Given the description of an element on the screen output the (x, y) to click on. 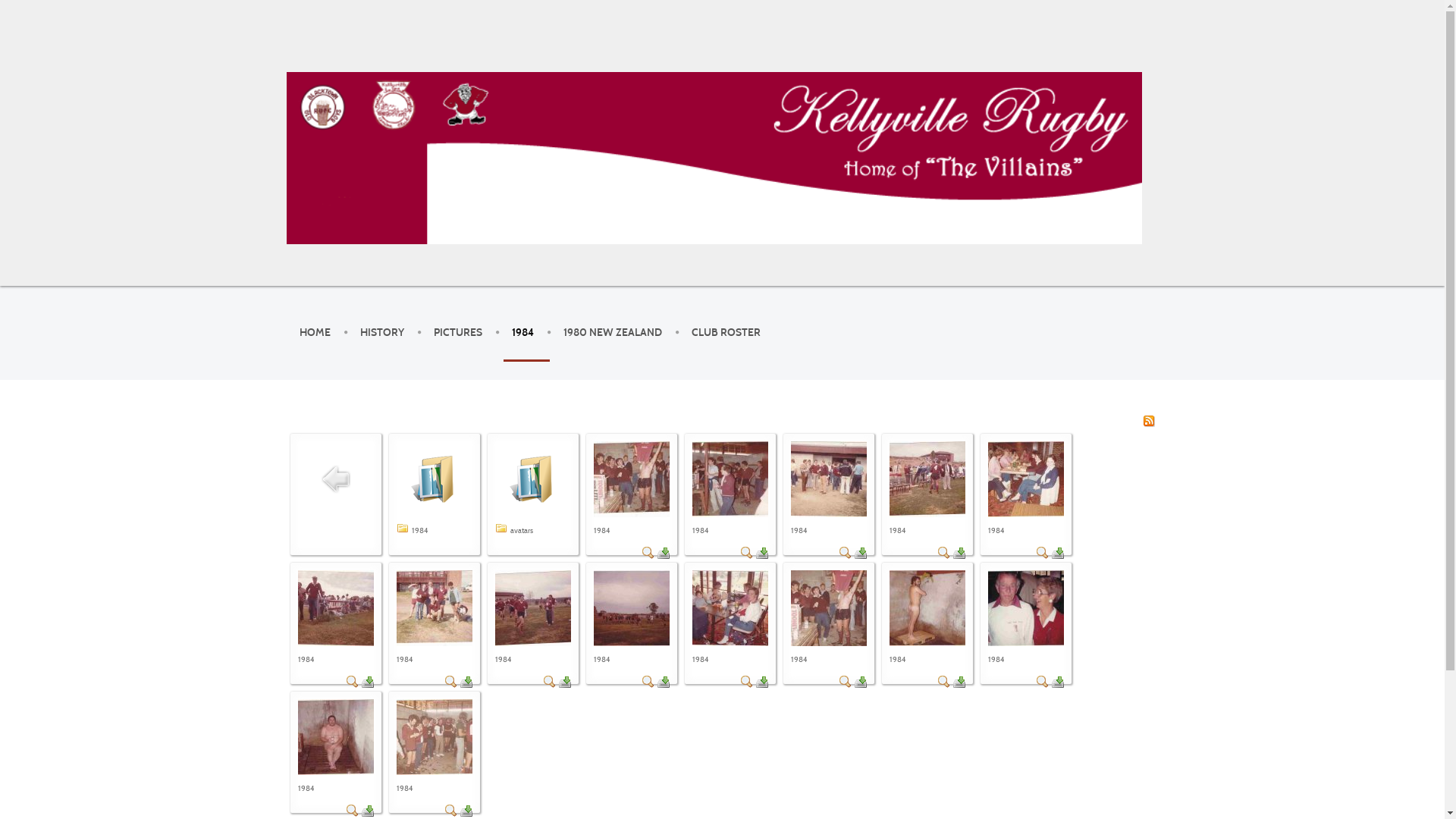
Detail Element type: hover (844, 680)
1984 Element type: text (521, 332)
Detail Element type: hover (844, 551)
HOME Element type: text (314, 332)
Download Element type: hover (859, 551)
Detail Element type: hover (943, 680)
Detail Element type: hover (746, 680)
Detail Element type: hover (450, 680)
Detail Element type: hover (943, 551)
1980 NEW ZEALAND Element type: text (611, 332)
Detail Element type: hover (351, 809)
Download Element type: hover (366, 809)
Download Element type: hover (564, 680)
Download Element type: hover (662, 680)
RSS Element type: hover (1148, 419)
Download Element type: hover (366, 680)
Detail Element type: hover (548, 680)
HISTORY Element type: text (381, 332)
Detail Element type: hover (746, 551)
Detail Element type: hover (647, 551)
Download Element type: hover (662, 551)
Download Element type: hover (958, 551)
Download Element type: hover (465, 680)
Download Element type: hover (859, 680)
Download Element type: hover (1057, 680)
Download Element type: hover (958, 680)
Download Element type: hover (761, 680)
Detail Element type: hover (1041, 551)
Detail Element type: hover (1041, 680)
Detail Element type: hover (351, 680)
Download Element type: hover (465, 809)
PICTURES Element type: text (457, 332)
Detail Element type: hover (647, 680)
Detail Element type: hover (450, 809)
CLUB ROSTER Element type: text (725, 332)
Download Element type: hover (1057, 551)
Download Element type: hover (761, 551)
